Given the description of an element on the screen output the (x, y) to click on. 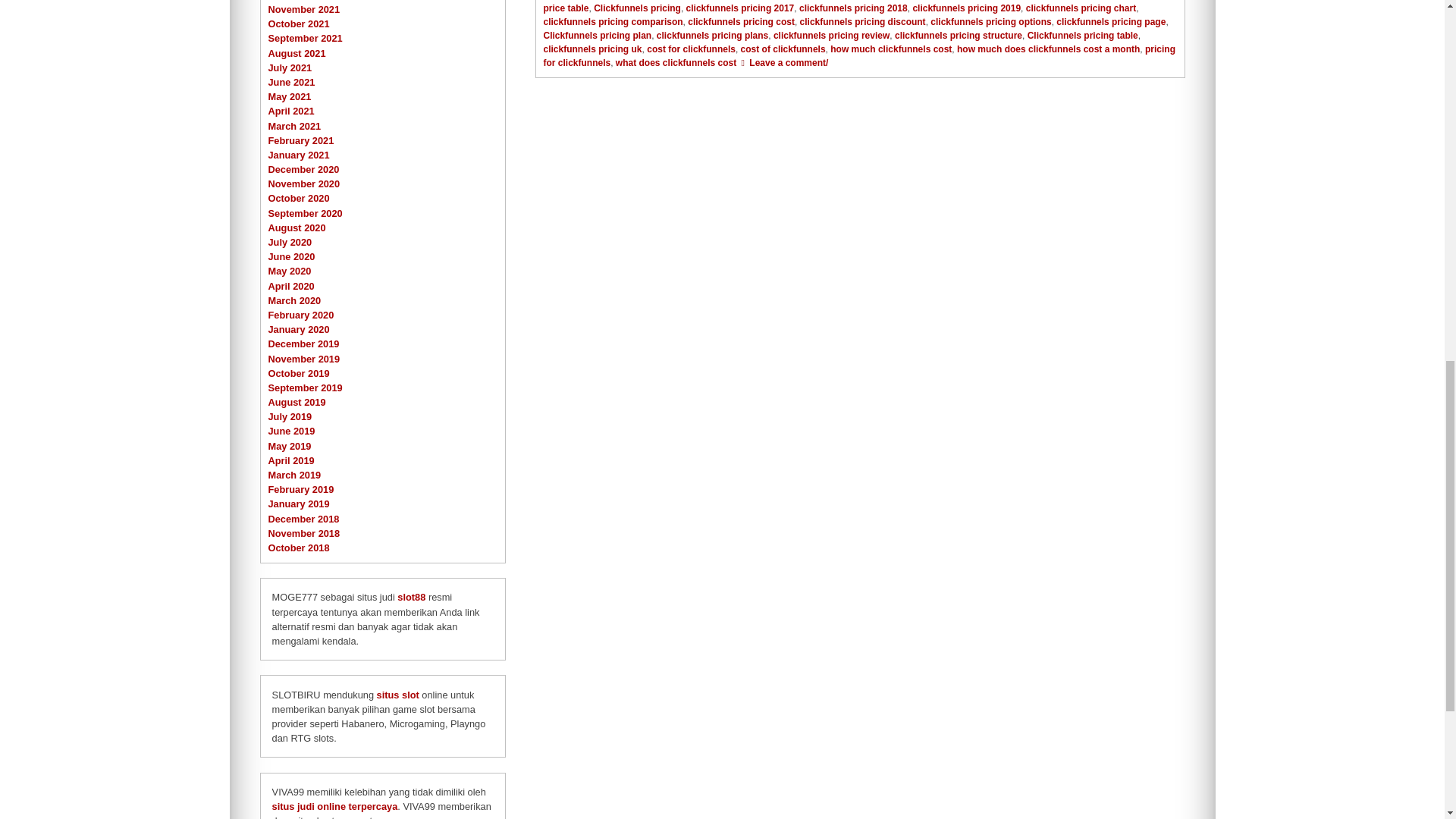
Clickfunnels pricing (637, 8)
clickfunnels pricing cost (740, 21)
Clickfunnels pricing plan (596, 35)
clickfunnels pricing uk (592, 49)
clickfunnels pricing plans (712, 35)
clickfunnels pricing comparison (612, 21)
Clickfunnels pricing table (1082, 35)
clickfunnels pricing page (1111, 21)
clickfunnels pricing 2019 (966, 8)
clickfunnels pricing 2017 (739, 8)
clickfunnels pricing review (831, 35)
clickfunnels pricing 2018 (853, 8)
clickfunnels pricing options (990, 21)
clickfunnels pricing discount (862, 21)
clickfunnels pricing structure (958, 35)
